Given the description of an element on the screen output the (x, y) to click on. 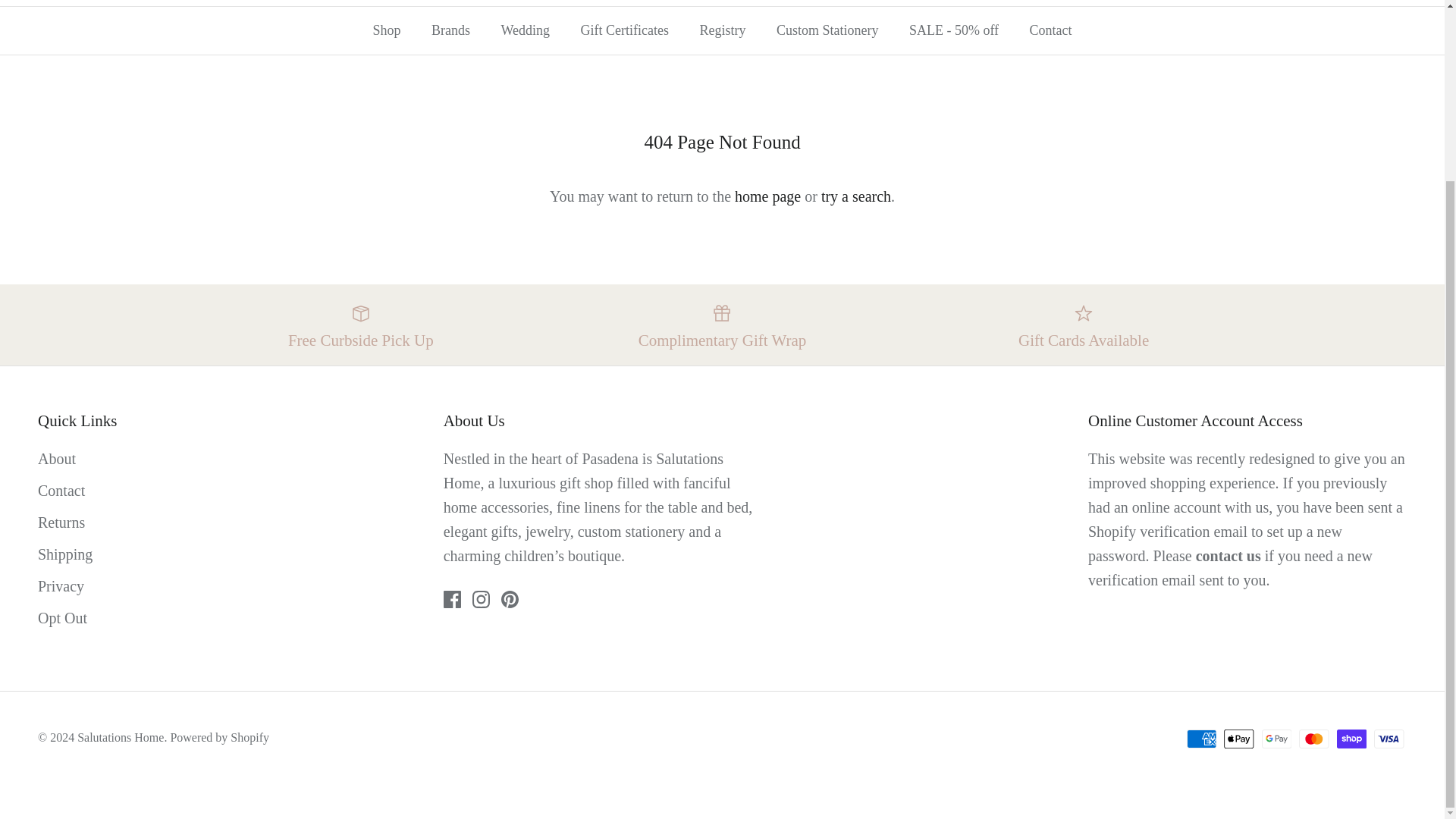
Visa (1388, 738)
American Express (1201, 738)
Pinterest (509, 599)
Shop (385, 30)
Contact (1227, 555)
Apple Pay (1238, 738)
Shop Pay (1351, 738)
Mastercard (1313, 738)
Instagram (480, 599)
Facebook (452, 599)
